Given the description of an element on the screen output the (x, y) to click on. 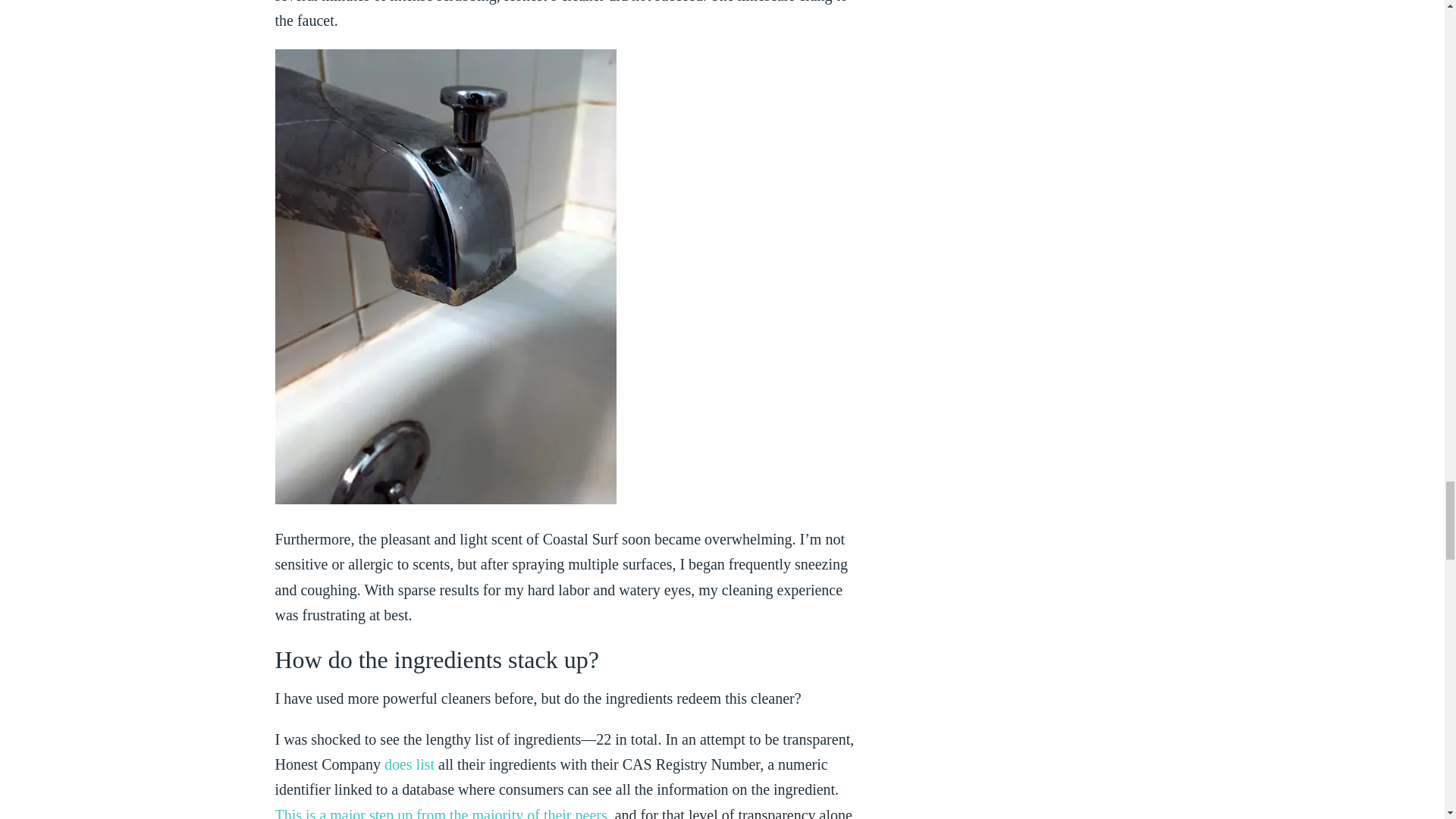
This is a major step up from the majority of their peers (441, 812)
does list (408, 764)
